Given the description of an element on the screen output the (x, y) to click on. 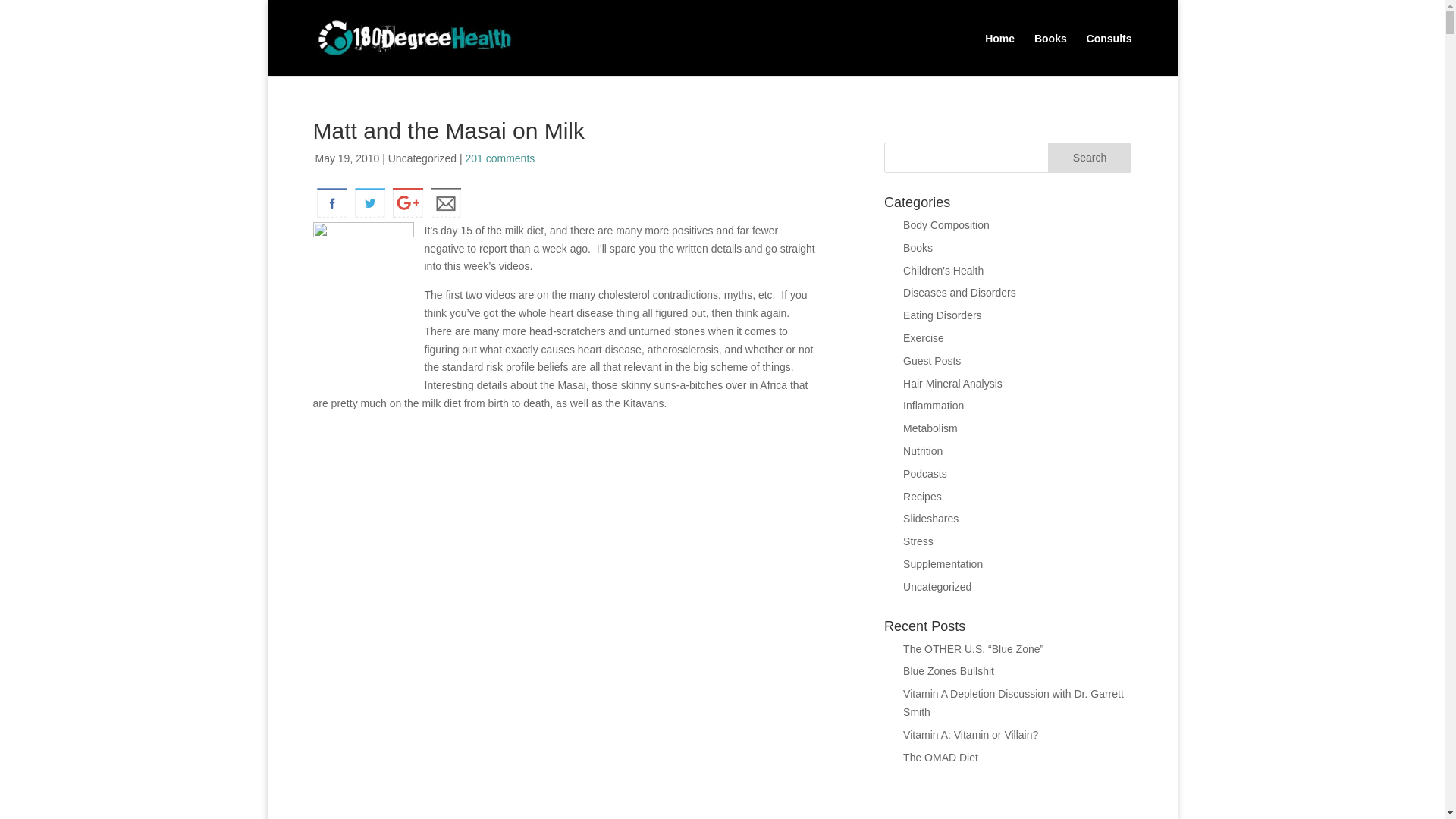
Books (1050, 49)
twitter (369, 202)
google (407, 202)
Search (1090, 157)
Home (999, 49)
email (445, 202)
Consults (1109, 49)
201 comments (499, 158)
facebook (331, 202)
